Given the description of an element on the screen output the (x, y) to click on. 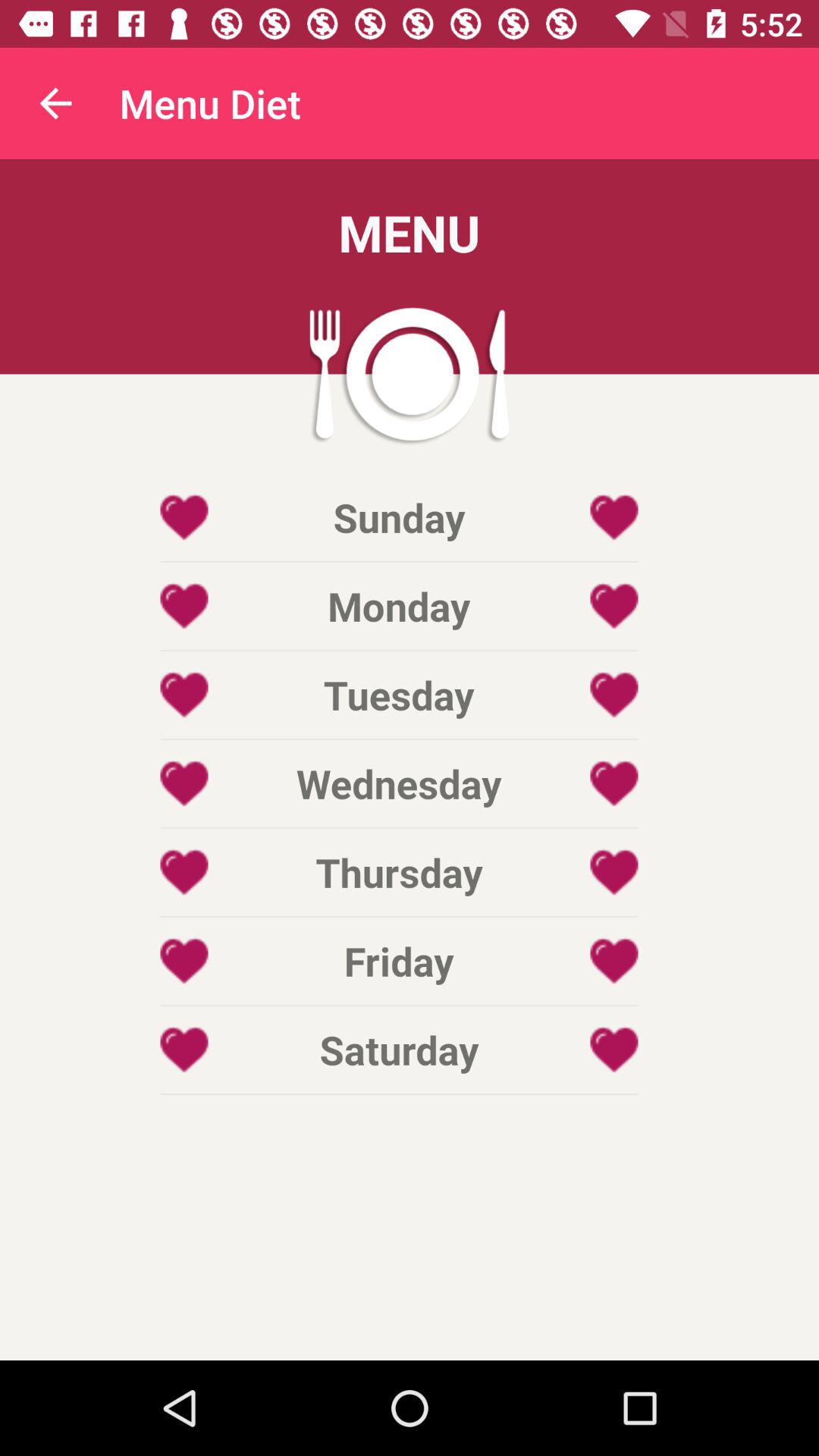
select the icon above the monday item (399, 516)
